Given the description of an element on the screen output the (x, y) to click on. 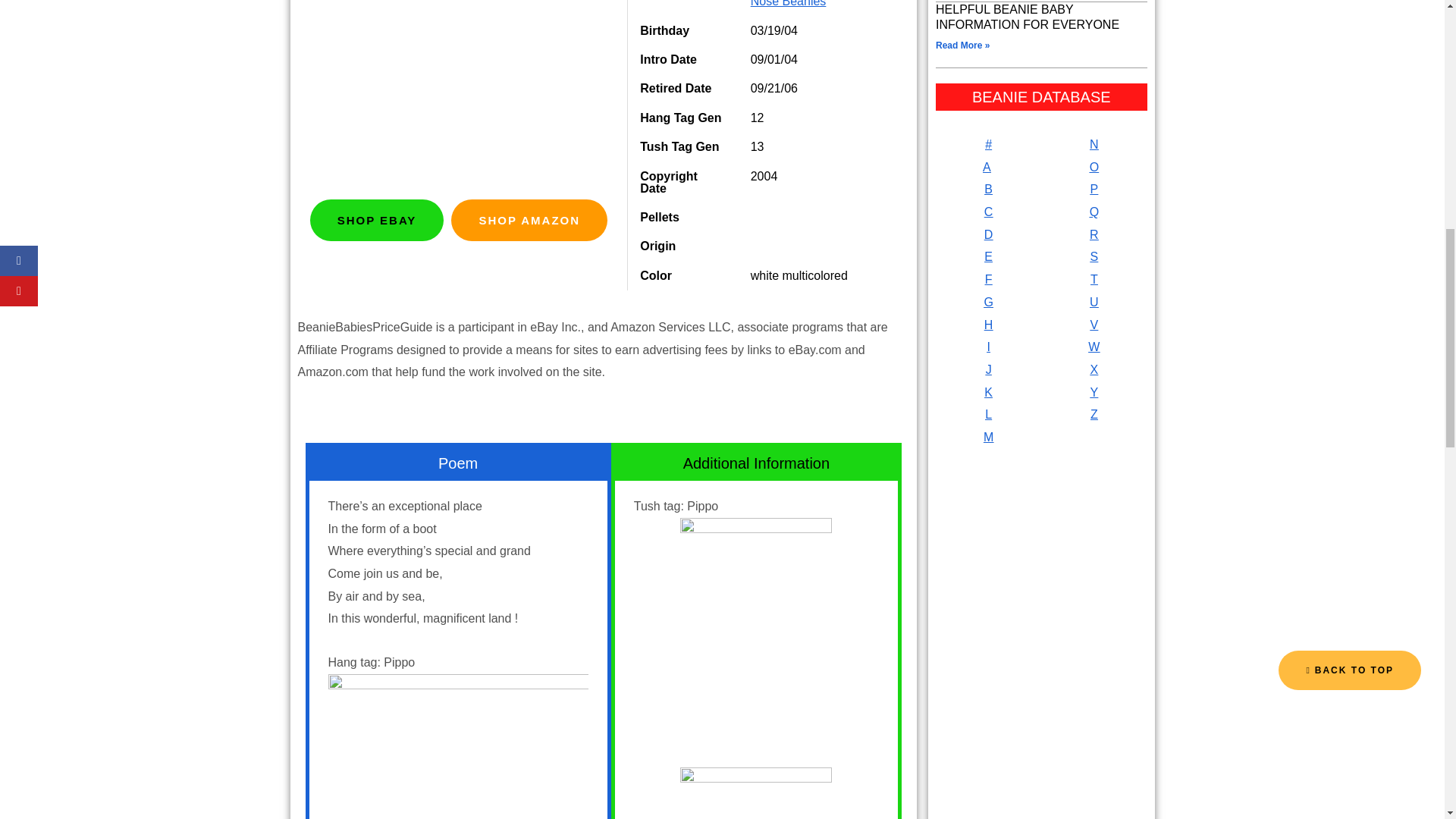
SHOP EBAY (377, 219)
Flag Nose Beanies (818, 3)
SHOP AMAZON (529, 219)
